Given the description of an element on the screen output the (x, y) to click on. 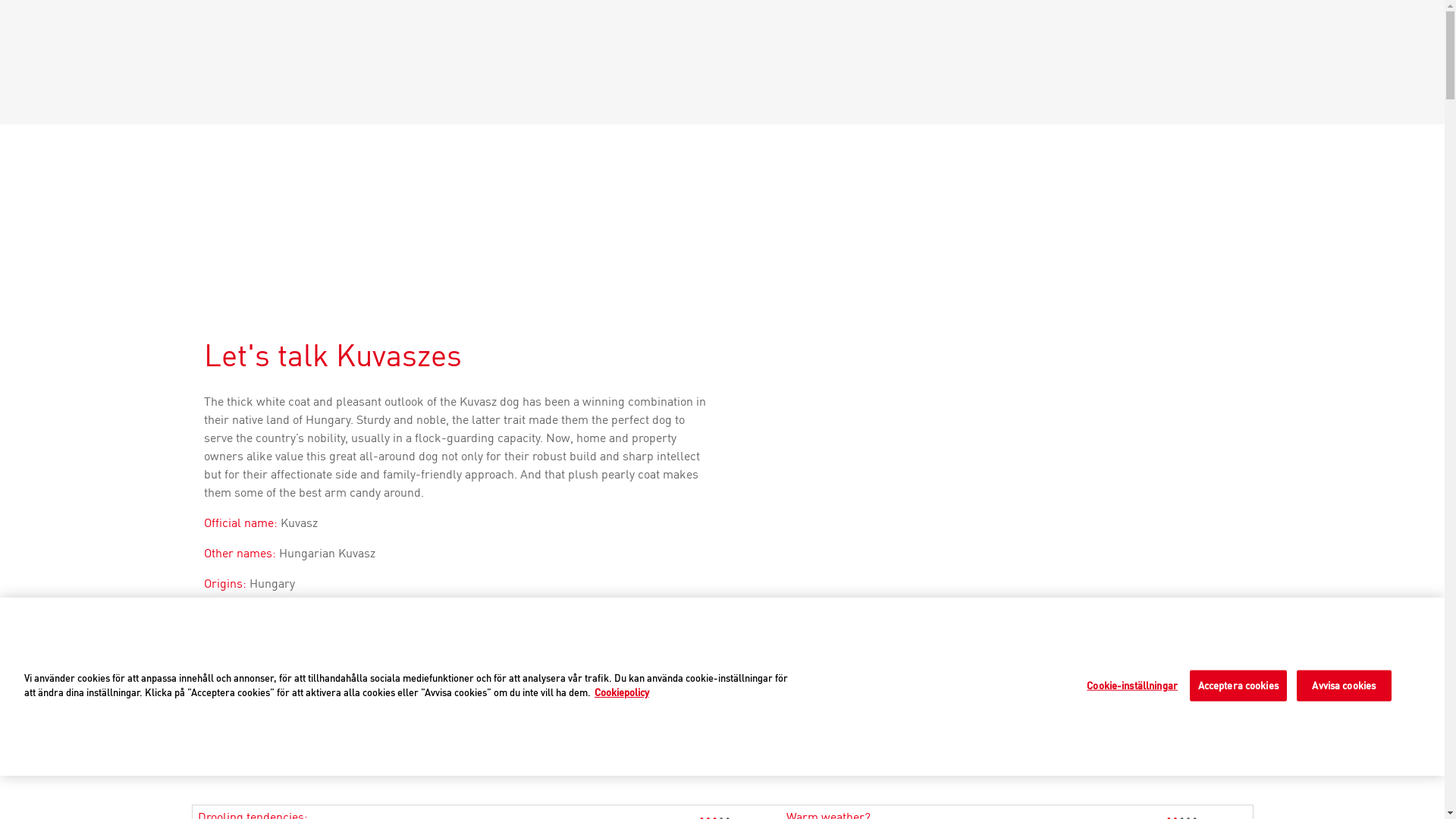
Characteristics (623, 752)
Specifics (836, 752)
Temperament (721, 752)
